Given the description of an element on the screen output the (x, y) to click on. 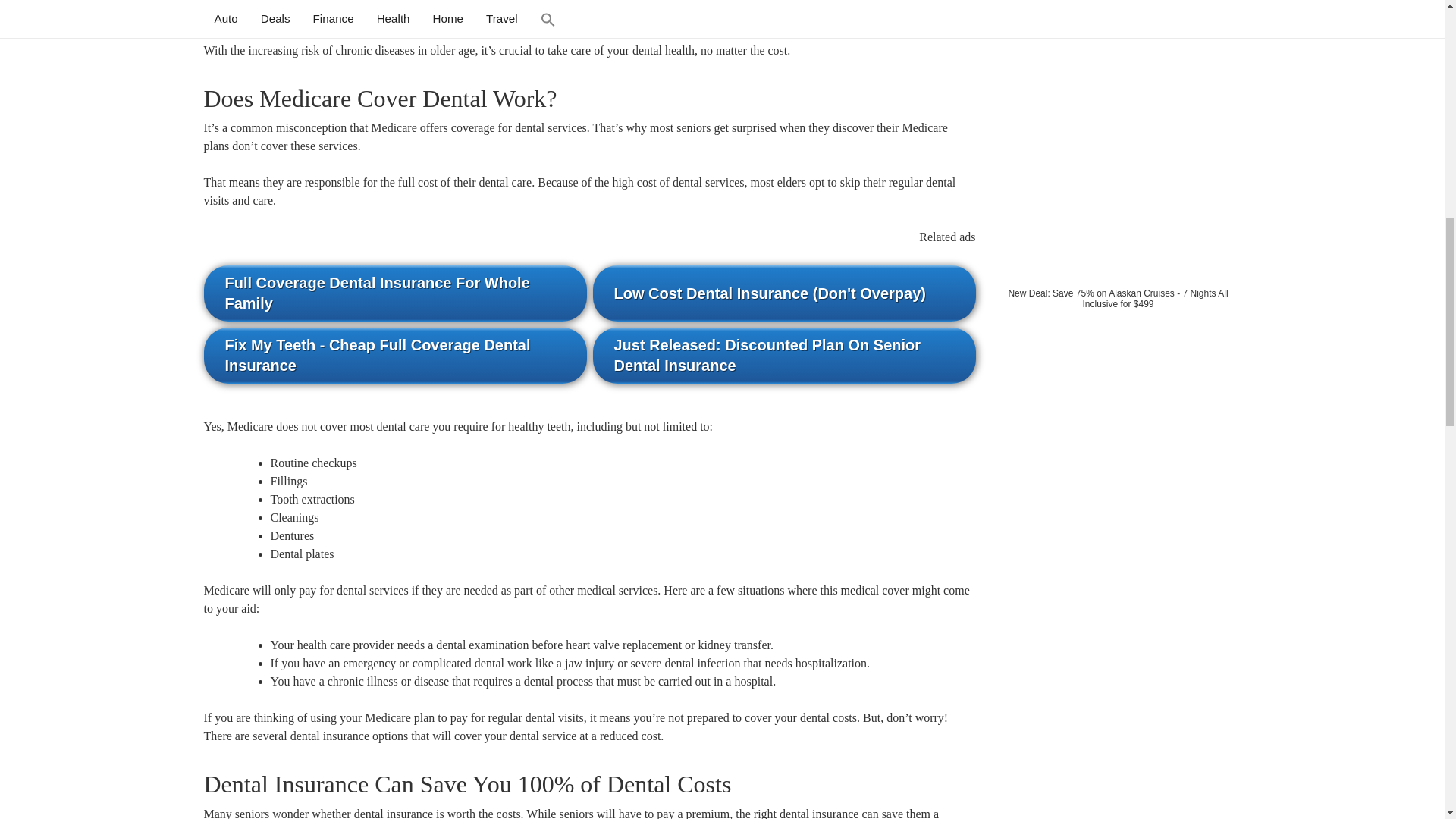
Full Coverage Dental Insurance For Whole Family (394, 293)
Just Released: Discounted Plan On Senior Dental Insurance (783, 355)
Fix My Teeth - Cheap Full Coverage Dental Insurance (394, 355)
other health conditions (258, 13)
